Given the description of an element on the screen output the (x, y) to click on. 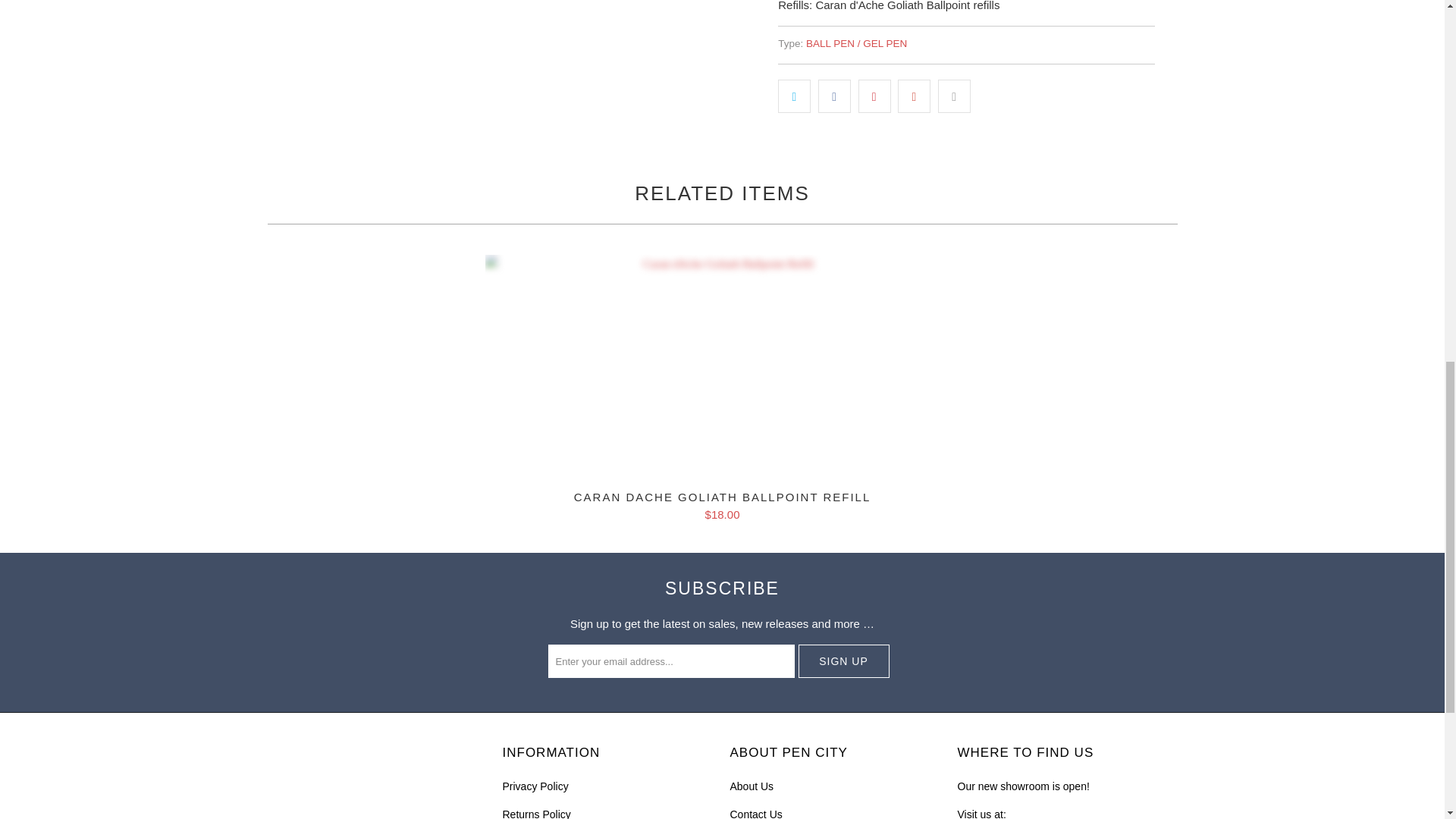
Share this on Pinterest (875, 96)
Sign Up (842, 661)
Email this to a friend (954, 96)
Share this on Facebook (834, 96)
Share this on Twitter (793, 96)
